Given the description of an element on the screen output the (x, y) to click on. 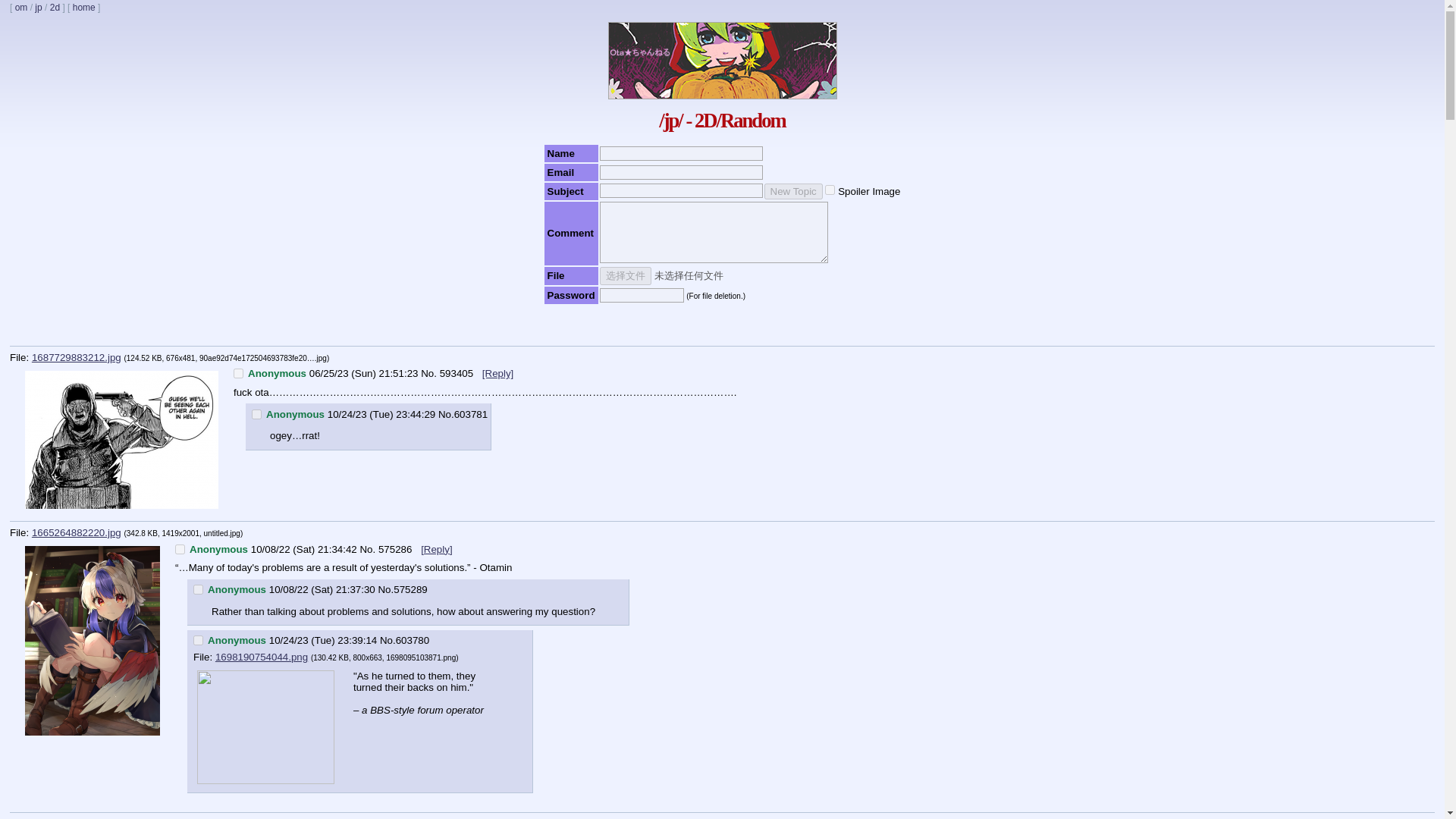
No. (385, 589)
on (829, 189)
on (256, 414)
1698190754044.png (261, 656)
om (20, 7)
603781 (470, 414)
593405 (457, 373)
1687729883212.jpg (76, 357)
No. (367, 549)
575286 (396, 549)
